Given the description of an element on the screen output the (x, y) to click on. 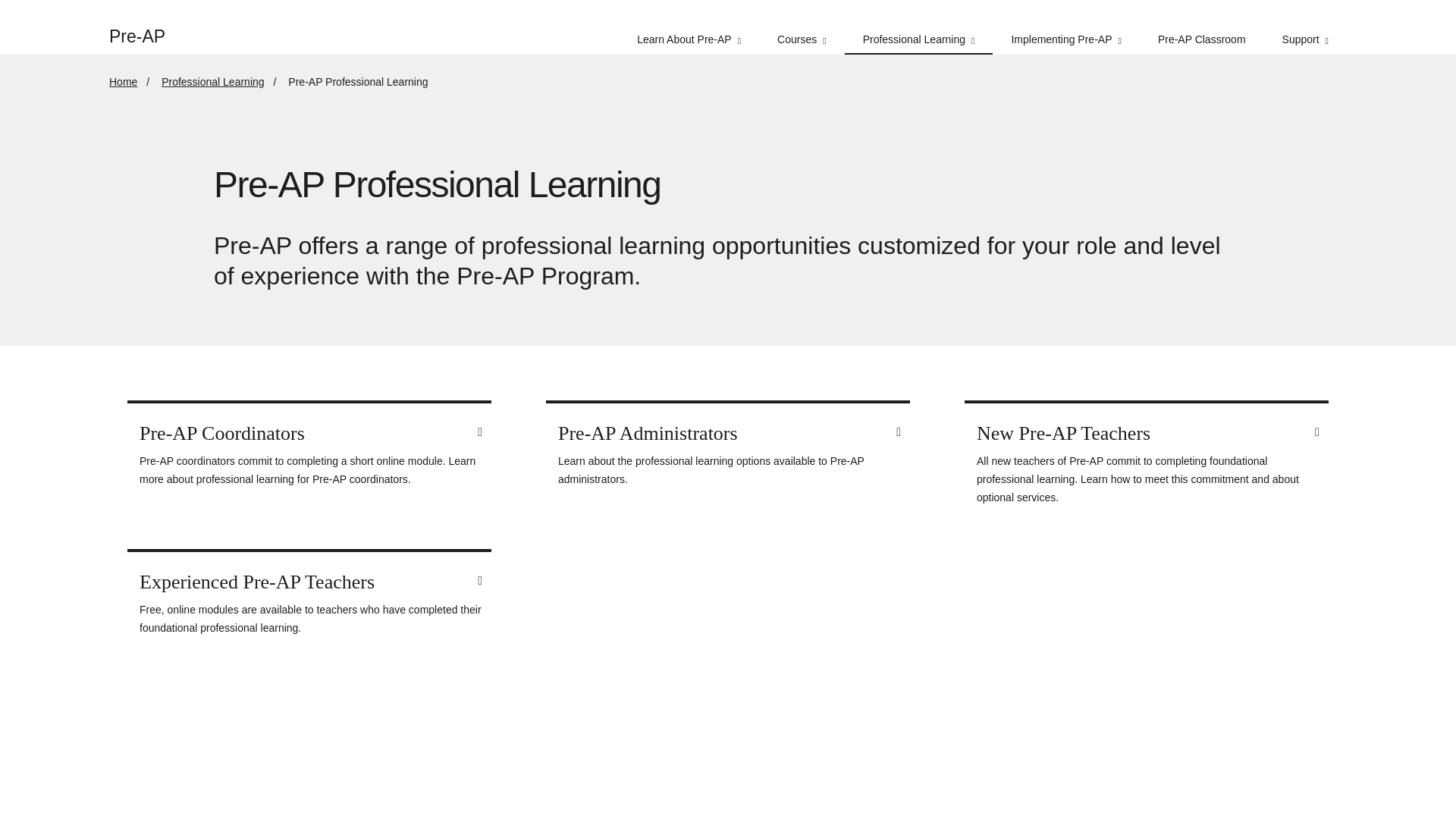
Learn About Pre-AP (688, 27)
Implementing Pre-AP (1065, 27)
Support (1304, 27)
Professional Learning (918, 27)
Pre-AP (146, 27)
Courses (801, 27)
Pre-AP Classroom (1201, 27)
